Given the description of an element on the screen output the (x, y) to click on. 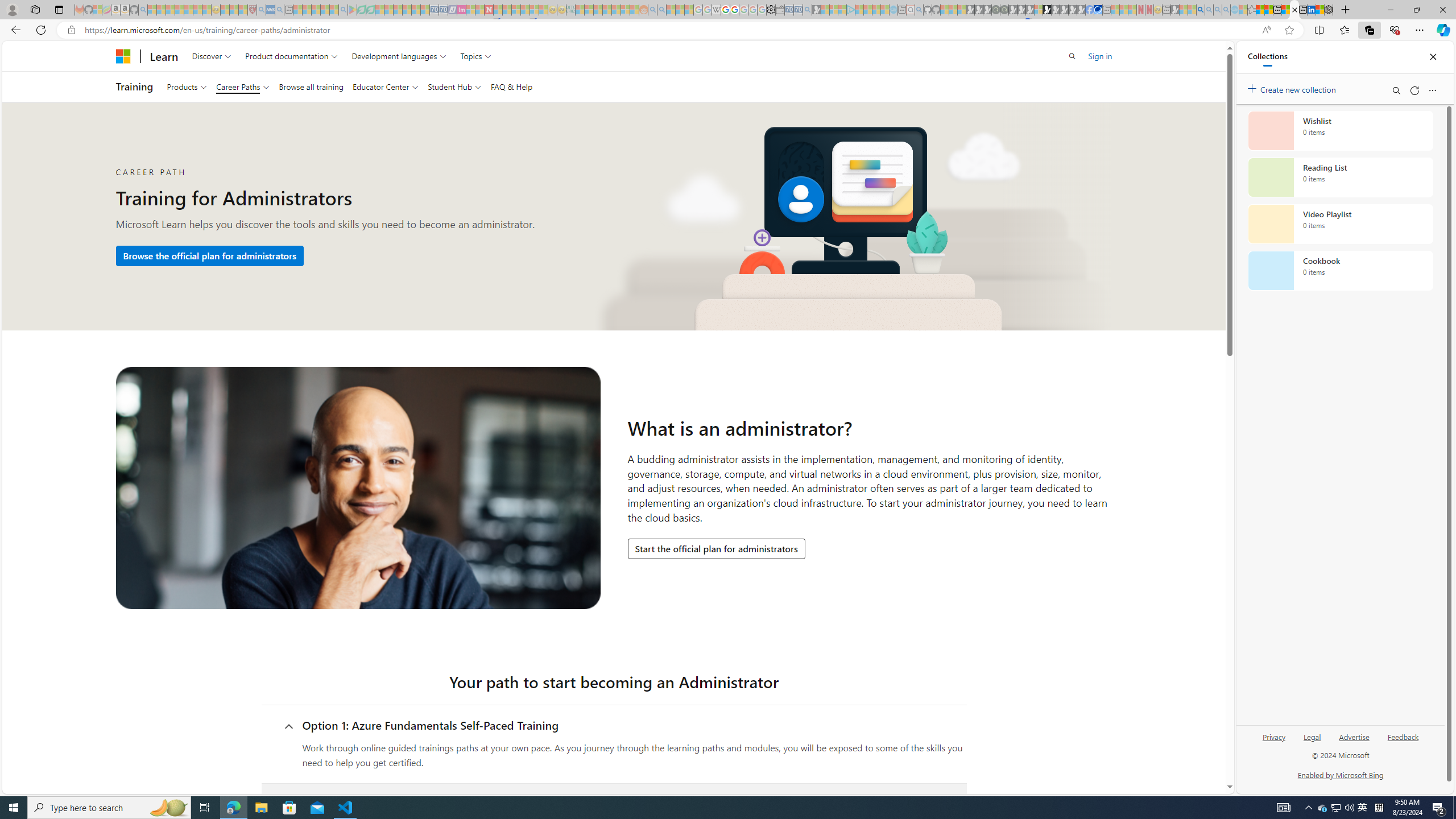
Privacy Help Center - Policies Help (725, 9)
Career Paths (243, 86)
Products (186, 86)
FAQ & Help (511, 86)
